Given the description of an element on the screen output the (x, y) to click on. 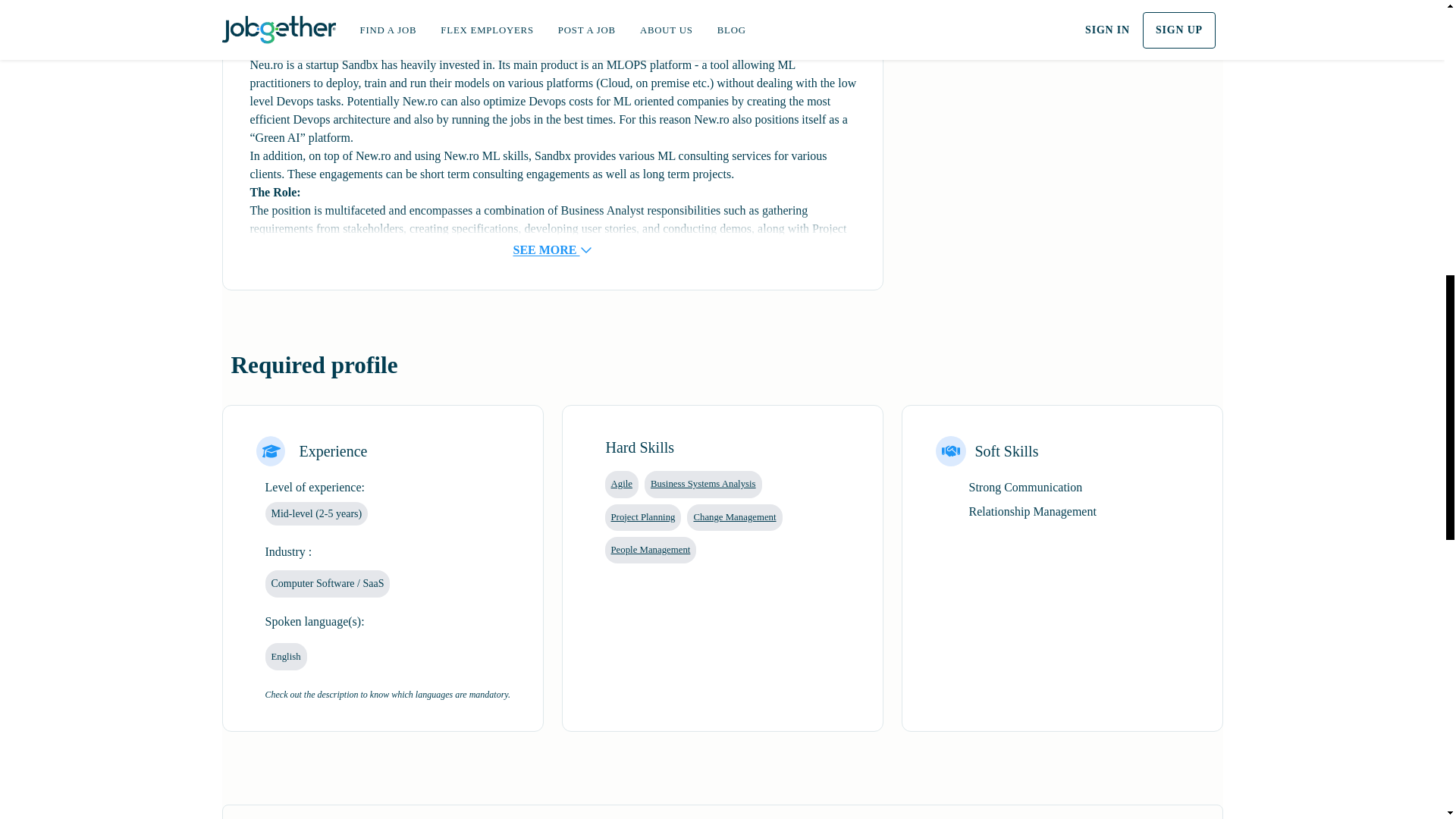
SEE MORE (553, 234)
Project Planning (643, 516)
Change Management (734, 516)
Agile (622, 483)
Business Systems Analysis (703, 483)
